Given the description of an element on the screen output the (x, y) to click on. 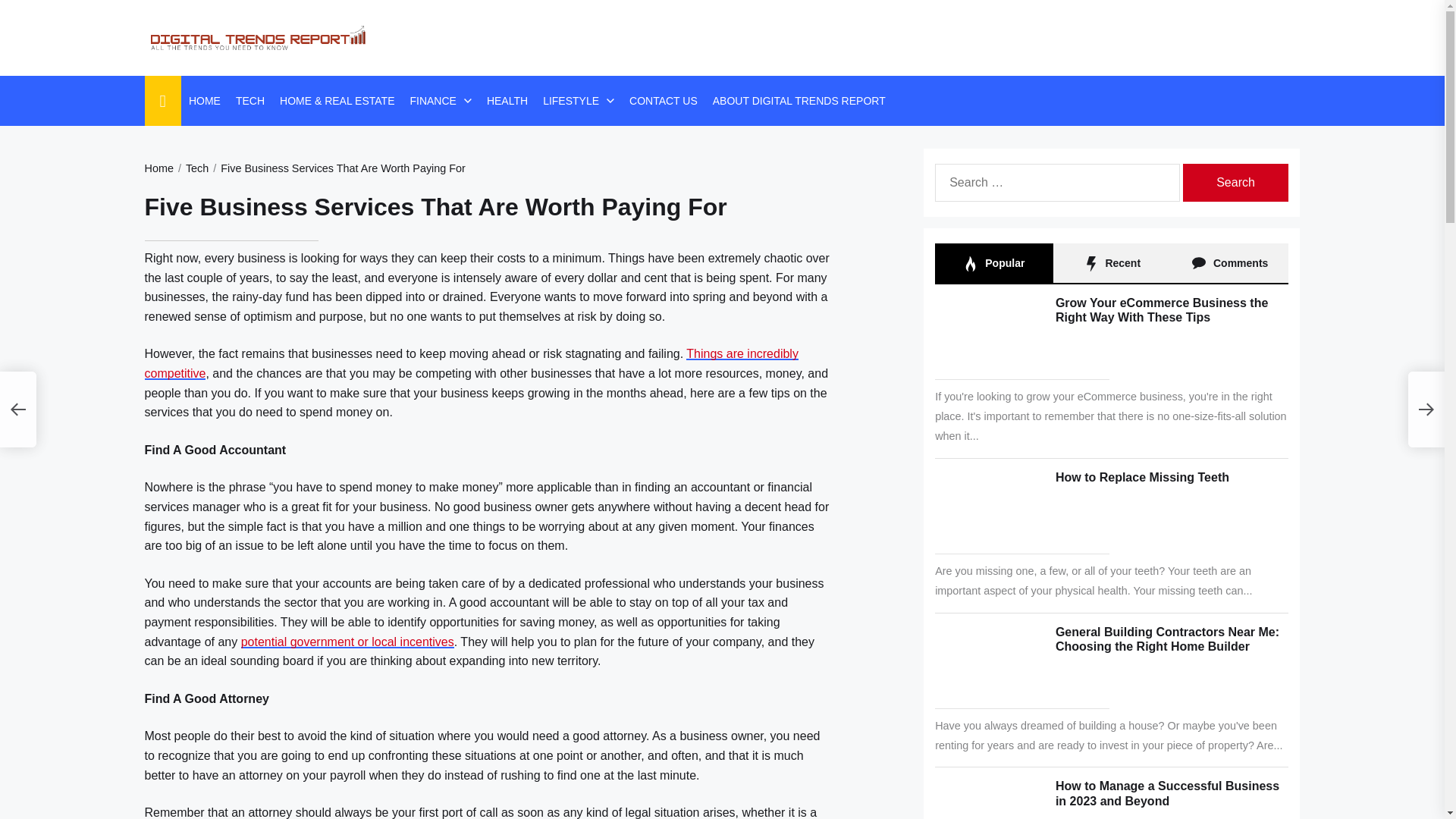
HOME (205, 100)
Search (1235, 182)
Things are incredibly competitive (470, 363)
Tech (190, 168)
Five Business Services That Are Worth Paying For (336, 168)
HEALTH (506, 100)
potential government or local incentives (347, 641)
Home (158, 168)
How to Replace Missing Teeth (1141, 477)
FINANCE (432, 100)
TECH (249, 100)
ABOUT DIGITAL TRENDS REPORT (799, 100)
How to Manage a Successful Business in 2023 and Beyond (1167, 792)
Search (1235, 182)
